Given the description of an element on the screen output the (x, y) to click on. 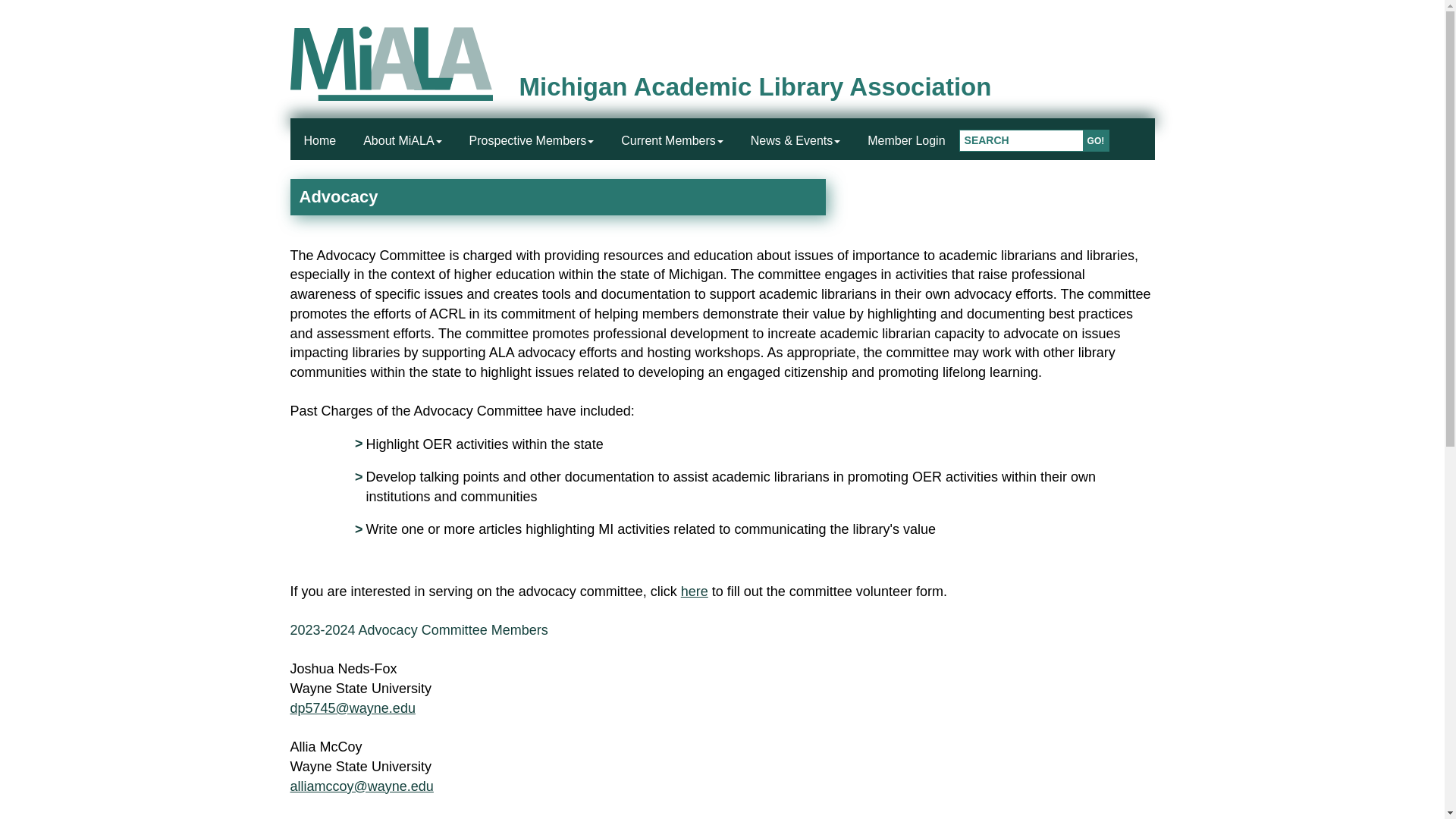
GO! (1096, 140)
About MiALA (401, 142)
Home (319, 142)
GO! (1096, 140)
Michigan Academic Library Association (755, 86)
